Given the description of an element on the screen output the (x, y) to click on. 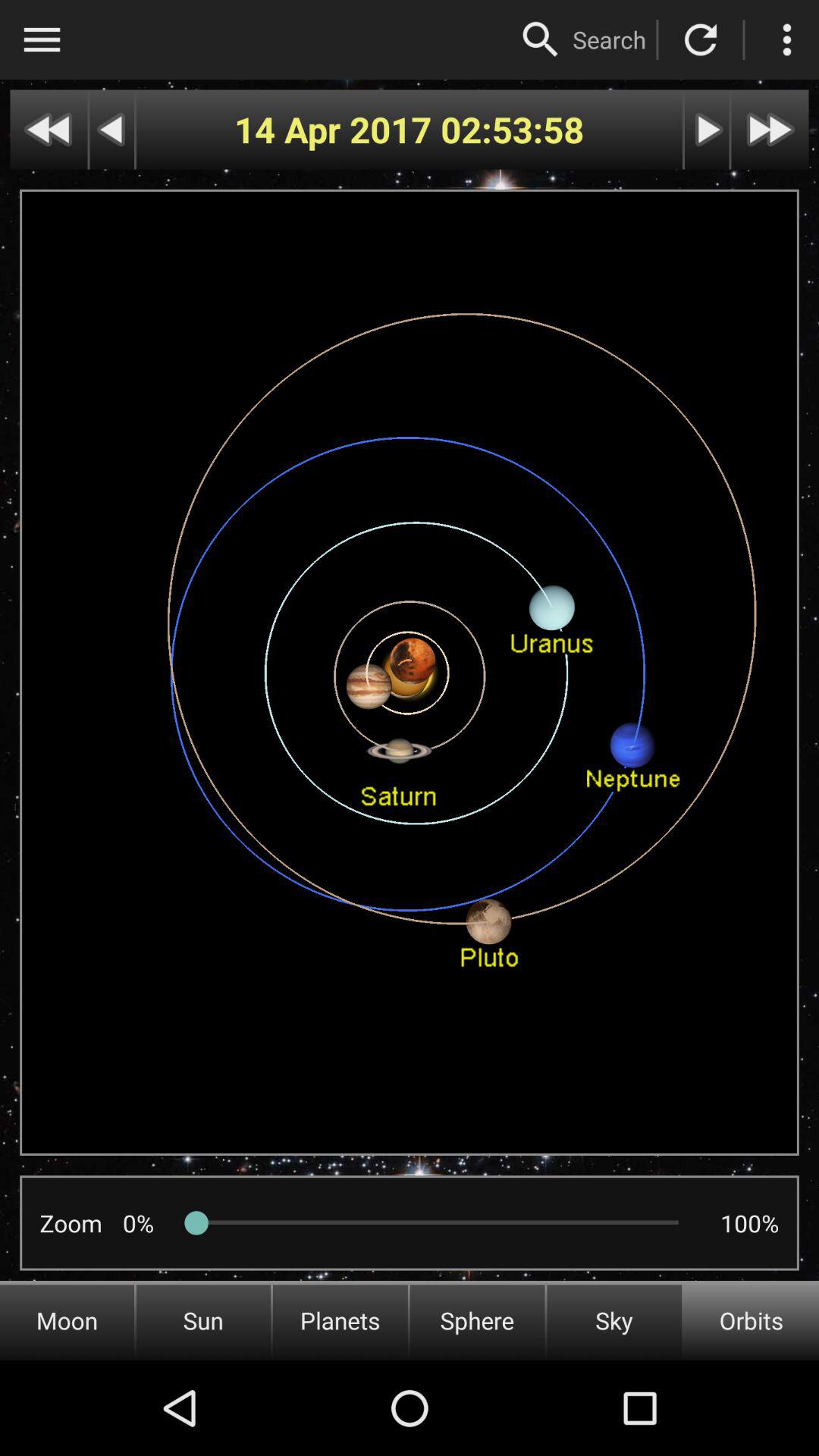
refresh page (700, 39)
